Given the description of an element on the screen output the (x, y) to click on. 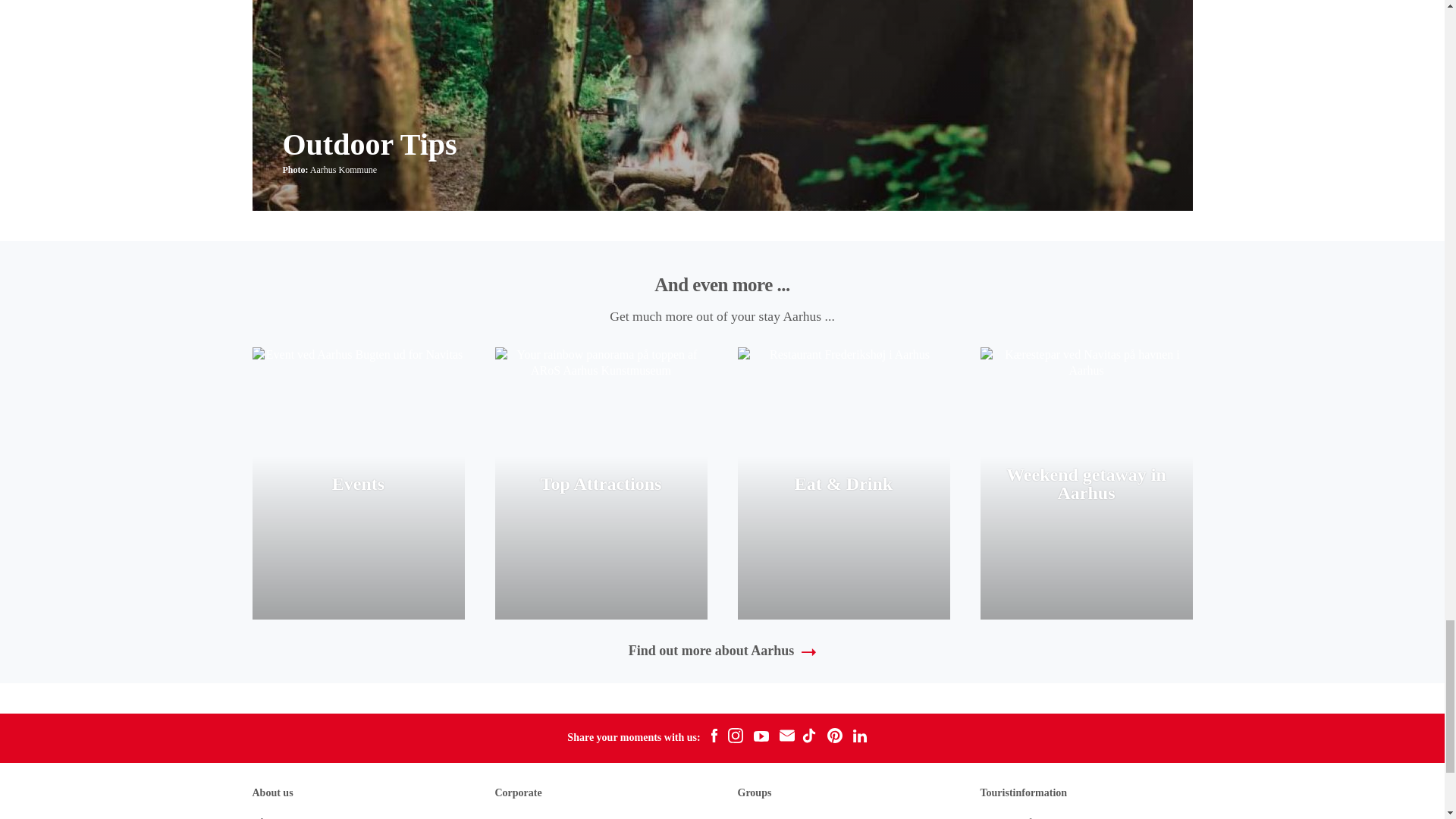
Outdoor Tips (369, 143)
Find out more about Aarhus (722, 650)
Outdoor Tips on a map (369, 143)
